Given the description of an element on the screen output the (x, y) to click on. 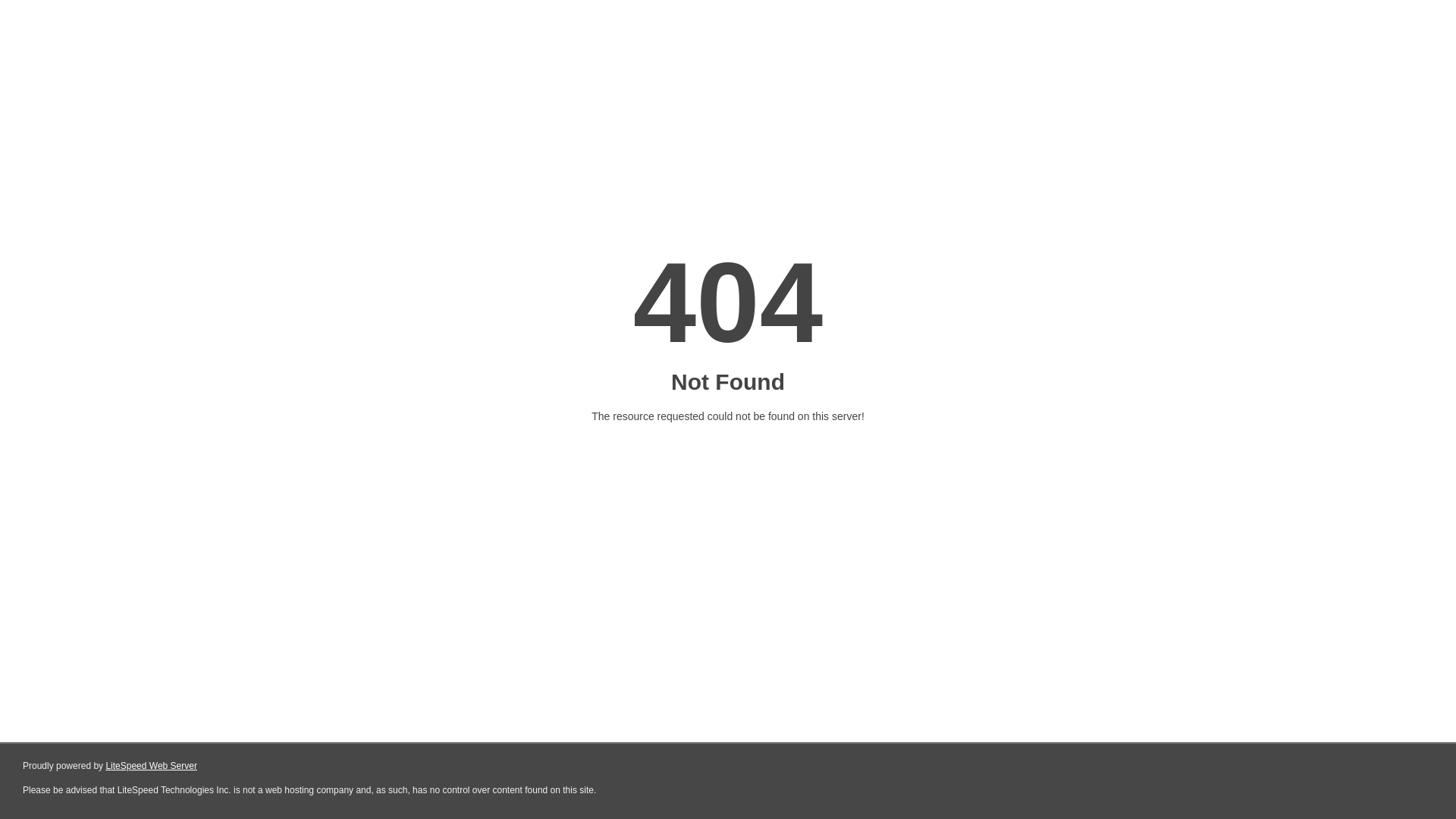
LiteSpeed Web Server Element type: text (151, 765)
